Given the description of an element on the screen output the (x, y) to click on. 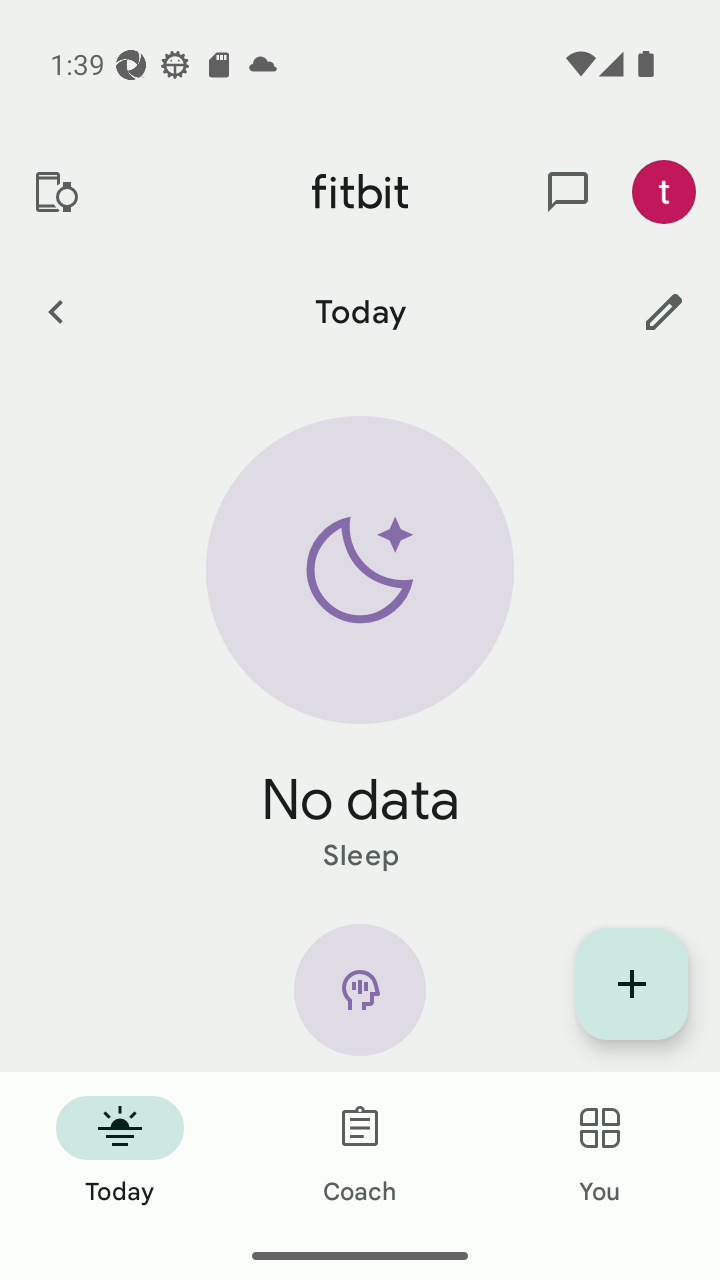
Devices and apps (55, 191)
messages and notifications (567, 191)
Previous Day (55, 311)
Customize (664, 311)
Sleep static hero arc No data Sleep (359, 645)
Mindfulness icon (360, 998)
Display list of quick log entries (632, 983)
Coach (359, 1151)
You (600, 1151)
